Given the description of an element on the screen output the (x, y) to click on. 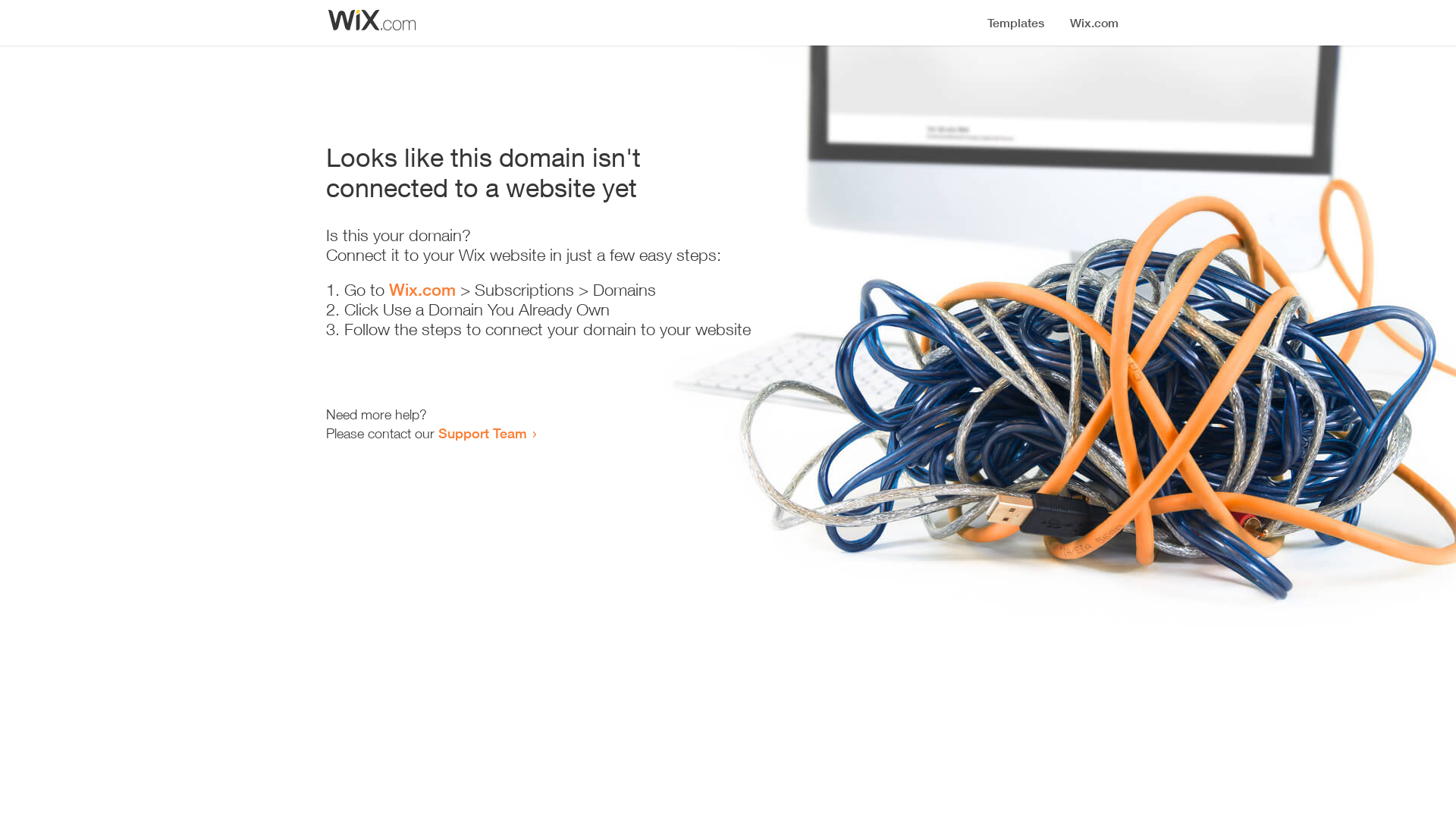
Wix.com Element type: text (422, 289)
Support Team Element type: text (482, 432)
